Given the description of an element on the screen output the (x, y) to click on. 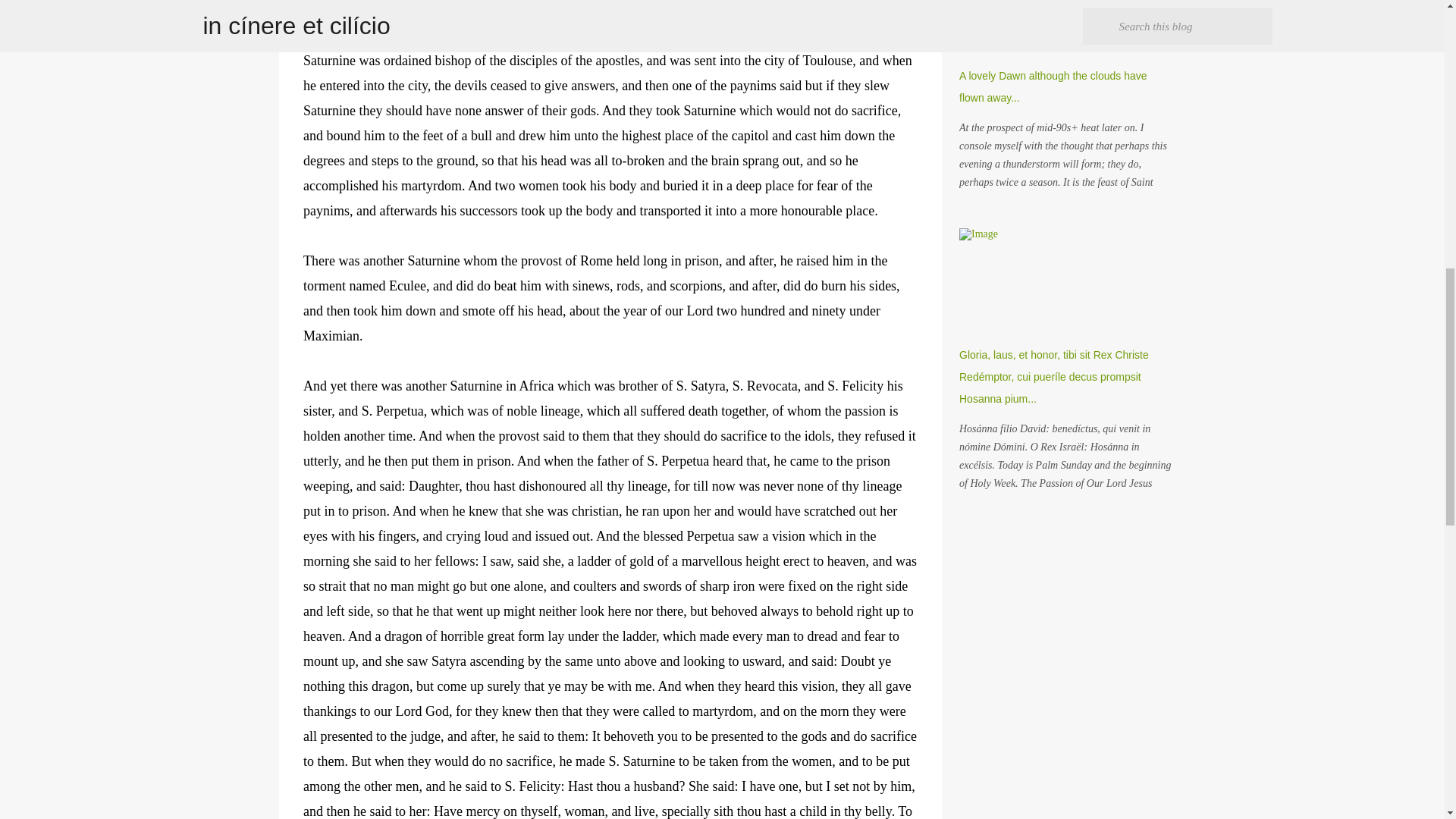
A lovely Dawn although the clouds have flown away... (1053, 86)
